Given the description of an element on the screen output the (x, y) to click on. 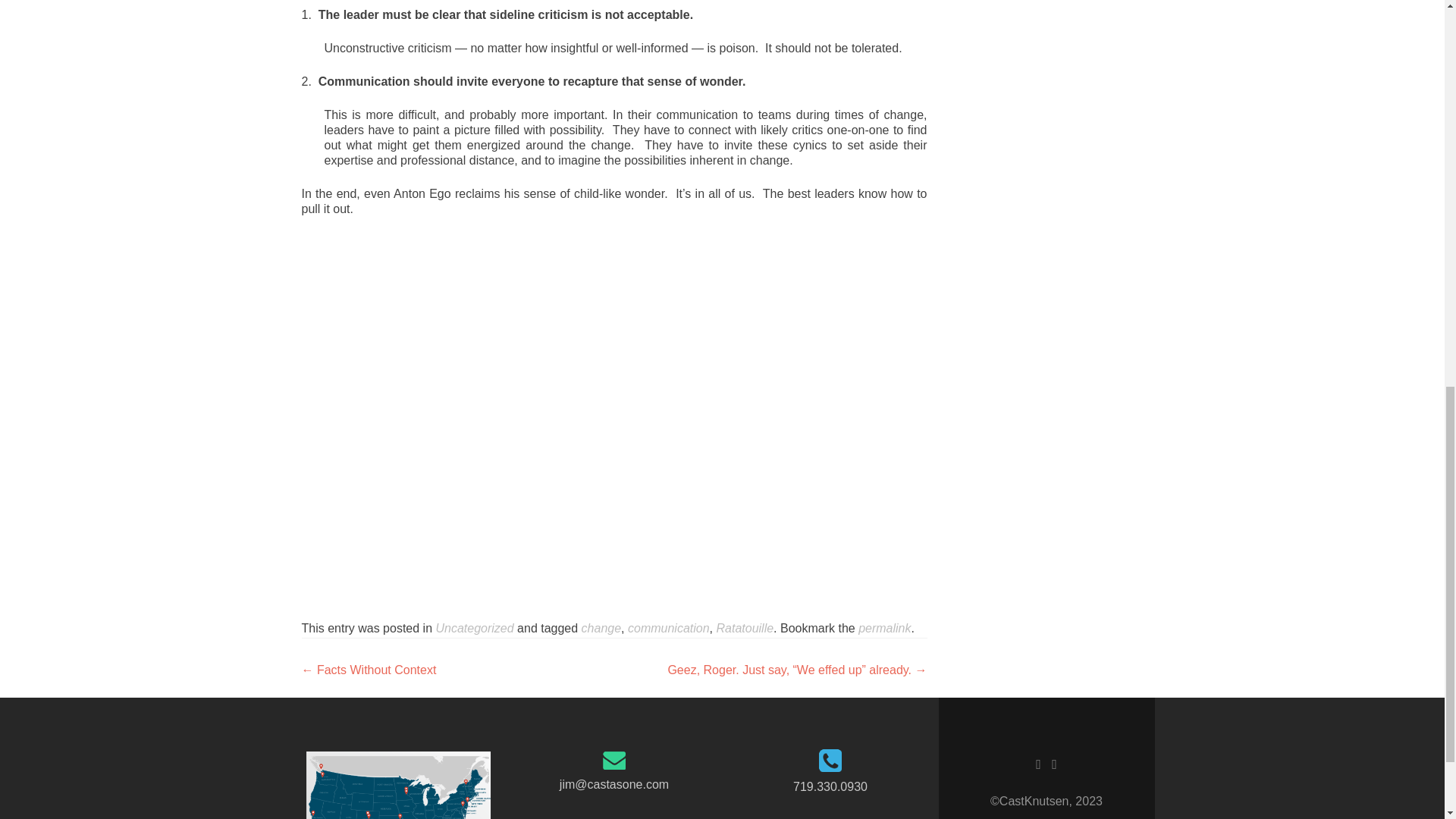
Uncategorized (474, 627)
permalink (885, 627)
Ratatouille (744, 627)
change (600, 627)
communication (668, 627)
719.330.0930 (830, 786)
